Given the description of an element on the screen output the (x, y) to click on. 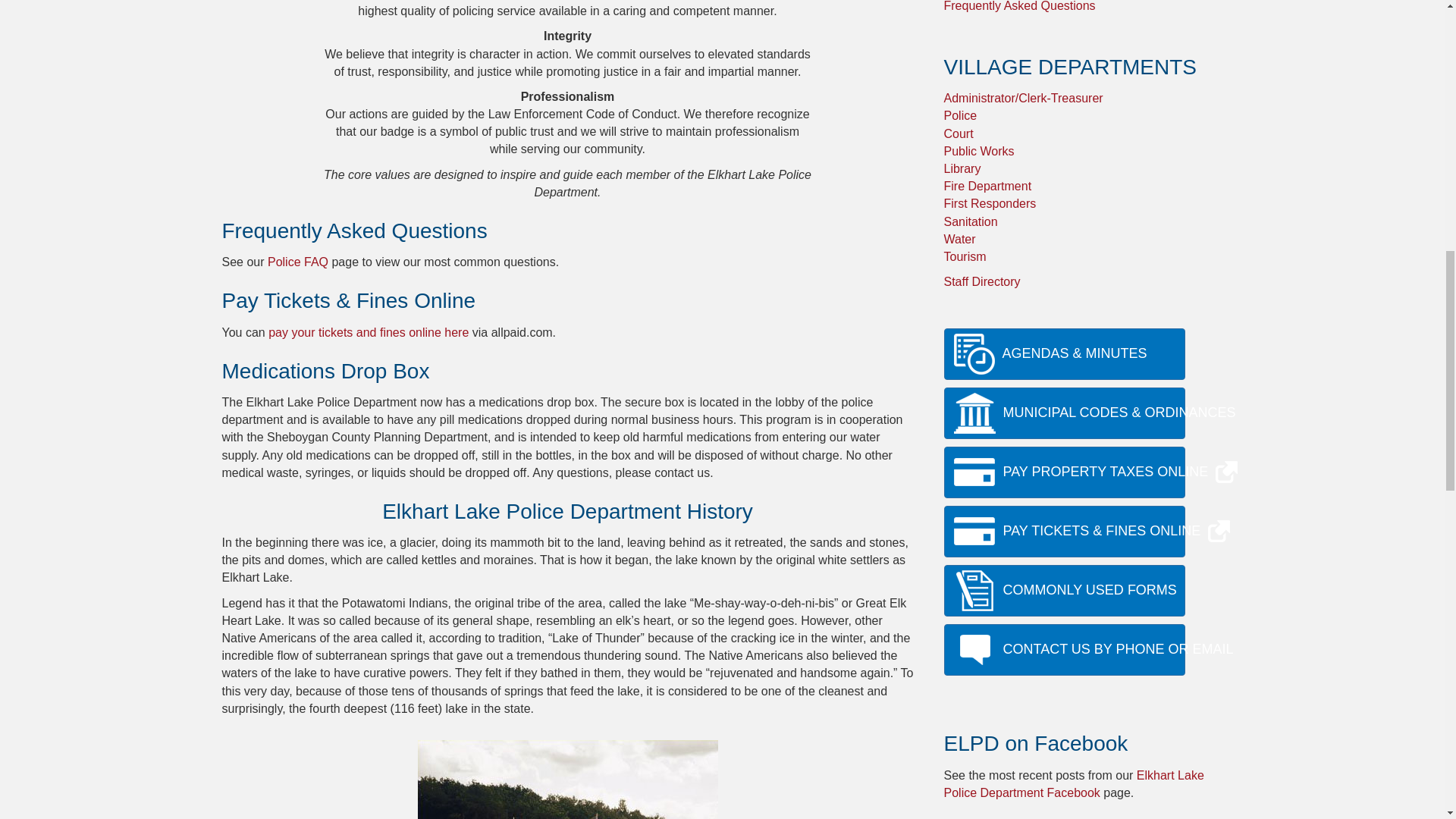
Road America Circa 1956 (566, 779)
